Given the description of an element on the screen output the (x, y) to click on. 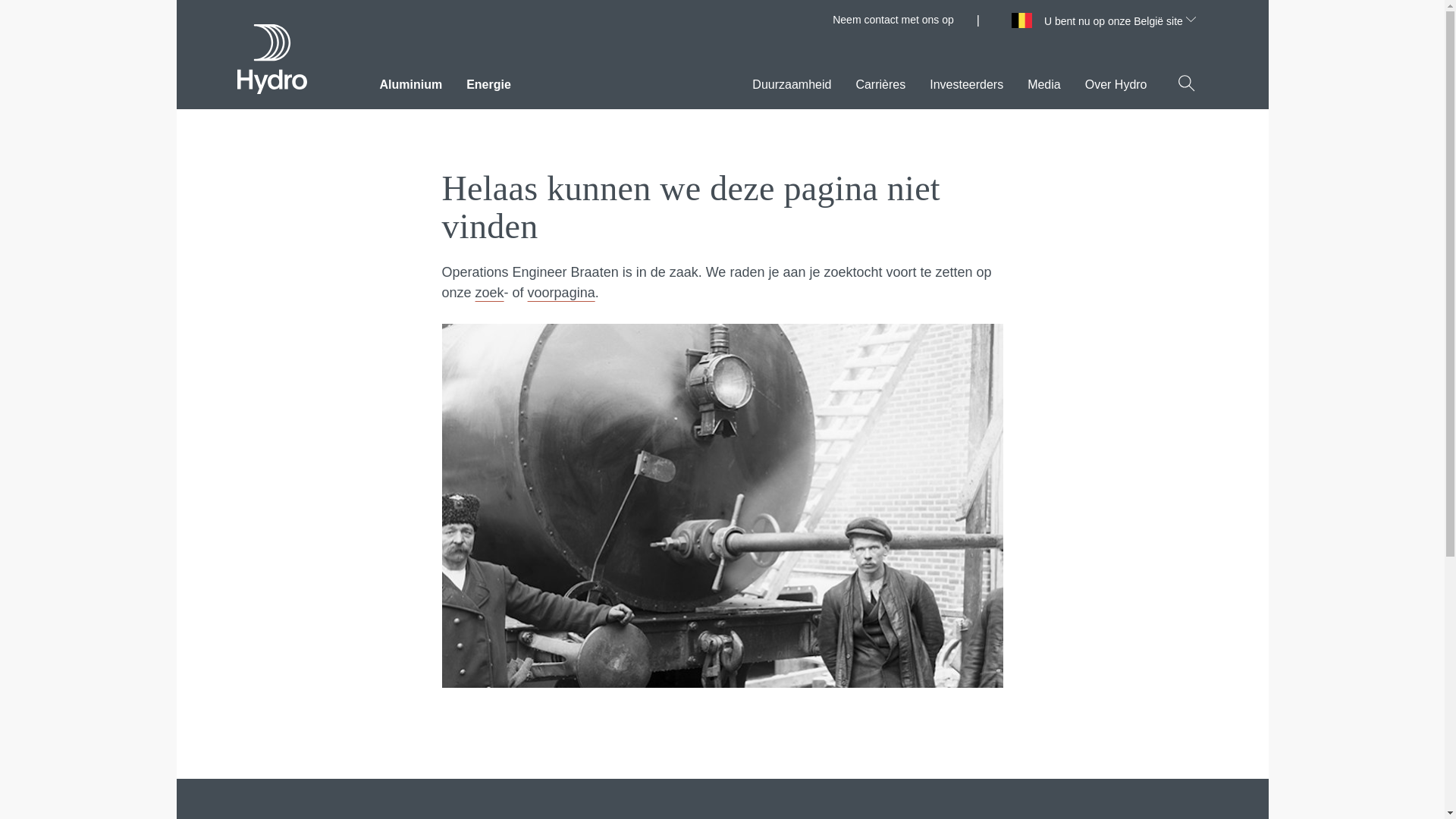
Neem contact met ons op (892, 20)
Over Hydro (1115, 80)
Over Hydro (1115, 80)
Media (1044, 80)
voorpagina (561, 292)
Duurzaamheid (791, 80)
Investeerders (966, 80)
Duurzaamheid (791, 80)
Aluminium (410, 80)
Zoeken (1185, 82)
Aluminium (410, 80)
zoek (489, 292)
Energie (488, 80)
